Given the description of an element on the screen output the (x, y) to click on. 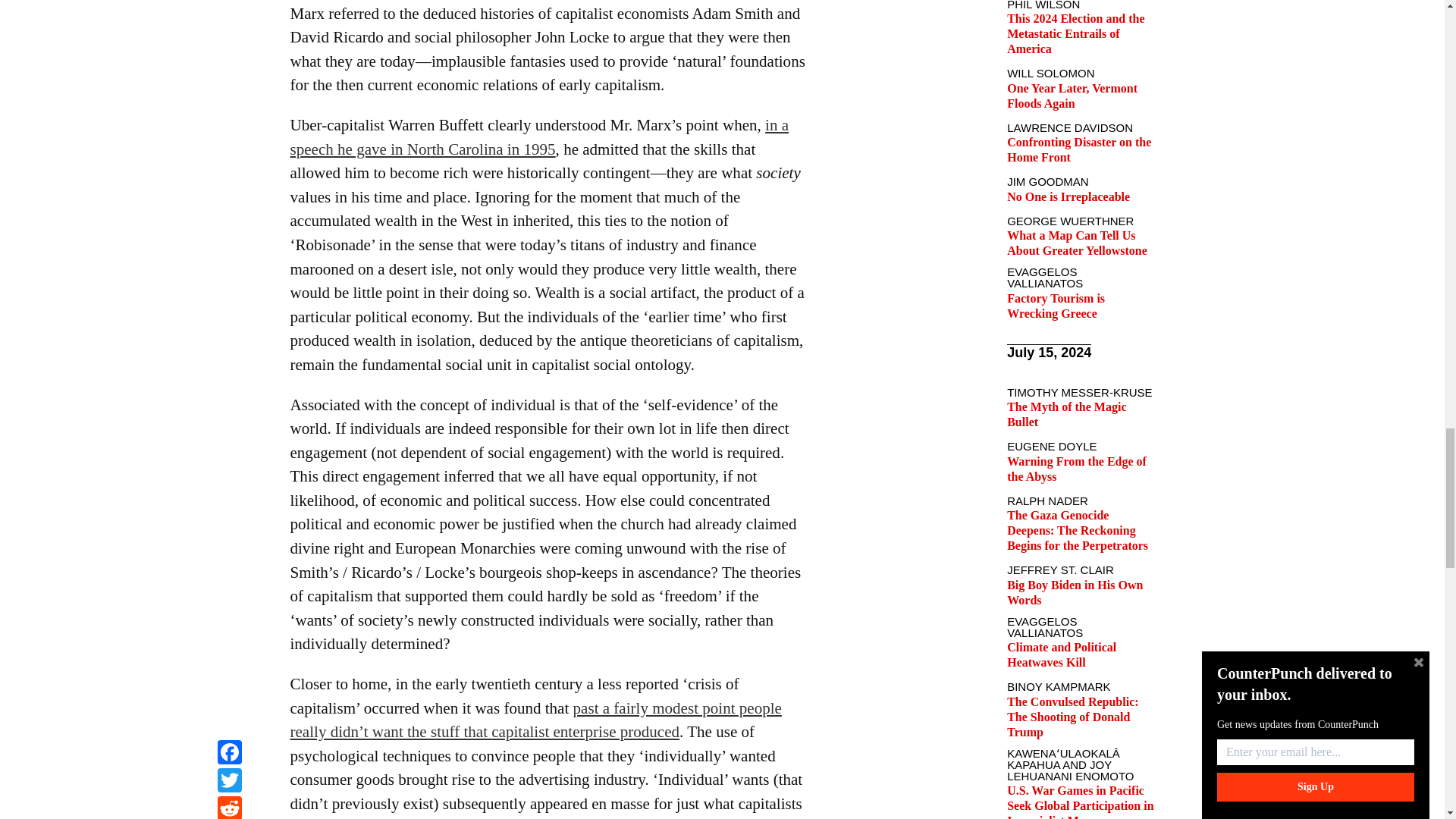
in a speech he gave in North Carolina in 1995 (539, 137)
